Given the description of an element on the screen output the (x, y) to click on. 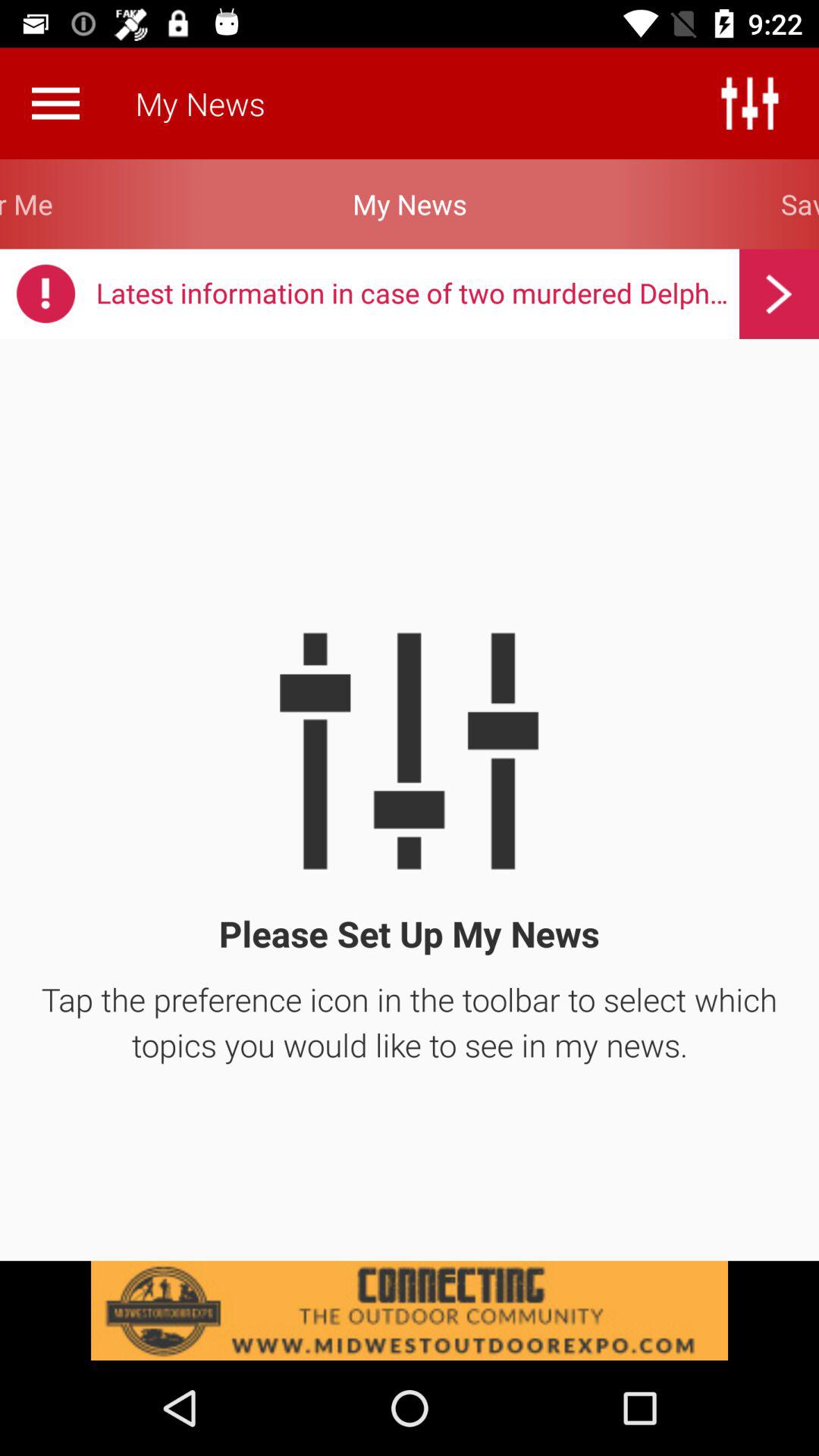
click settings (749, 102)
